Given the description of an element on the screen output the (x, y) to click on. 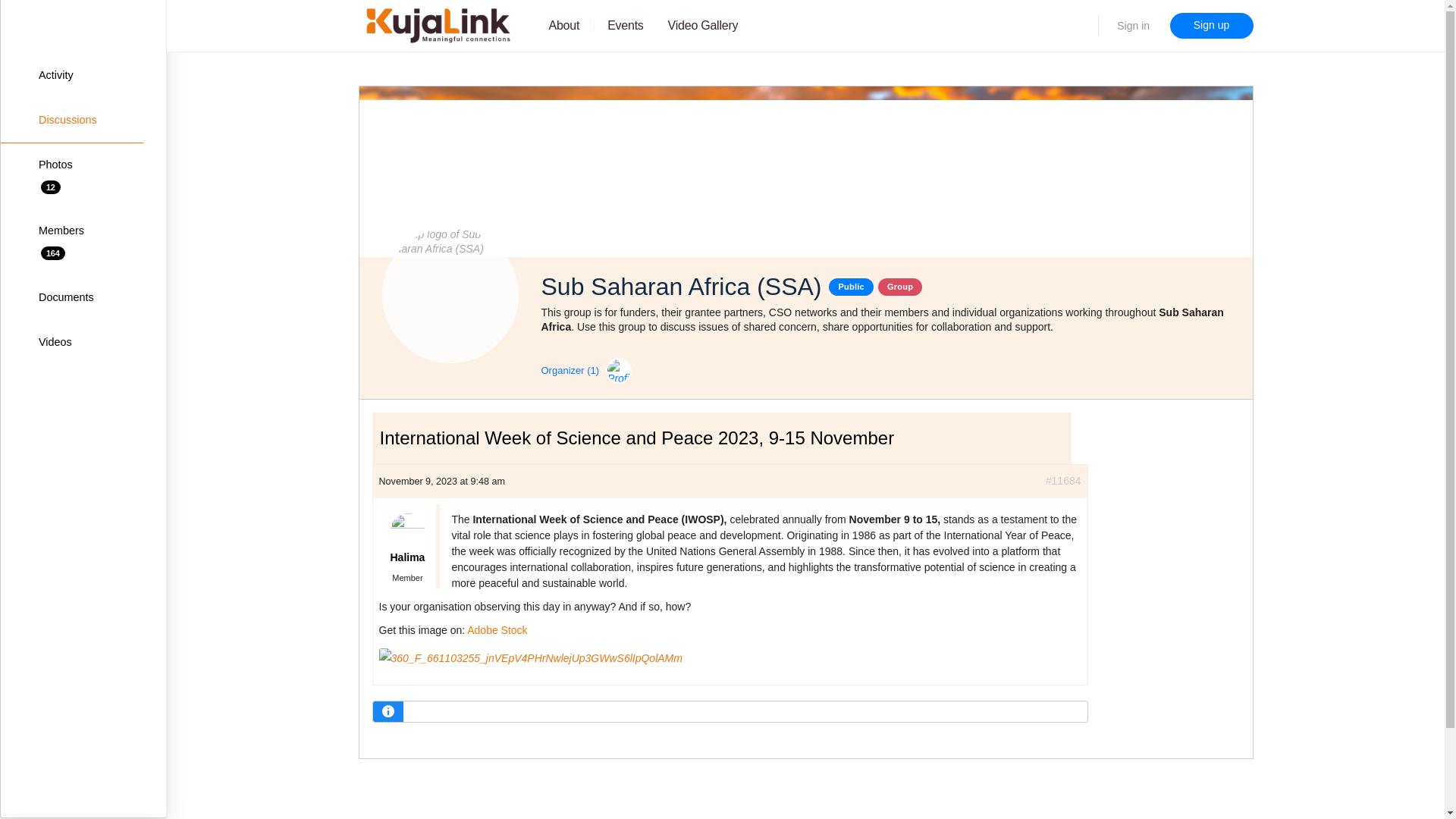
Documents (71, 298)
Videos (71, 342)
Discussions (71, 120)
Activity (71, 242)
Halima (71, 75)
Sign in (407, 546)
Video Gallery (1133, 25)
Adobe Stock (703, 27)
